Given the description of an element on the screen output the (x, y) to click on. 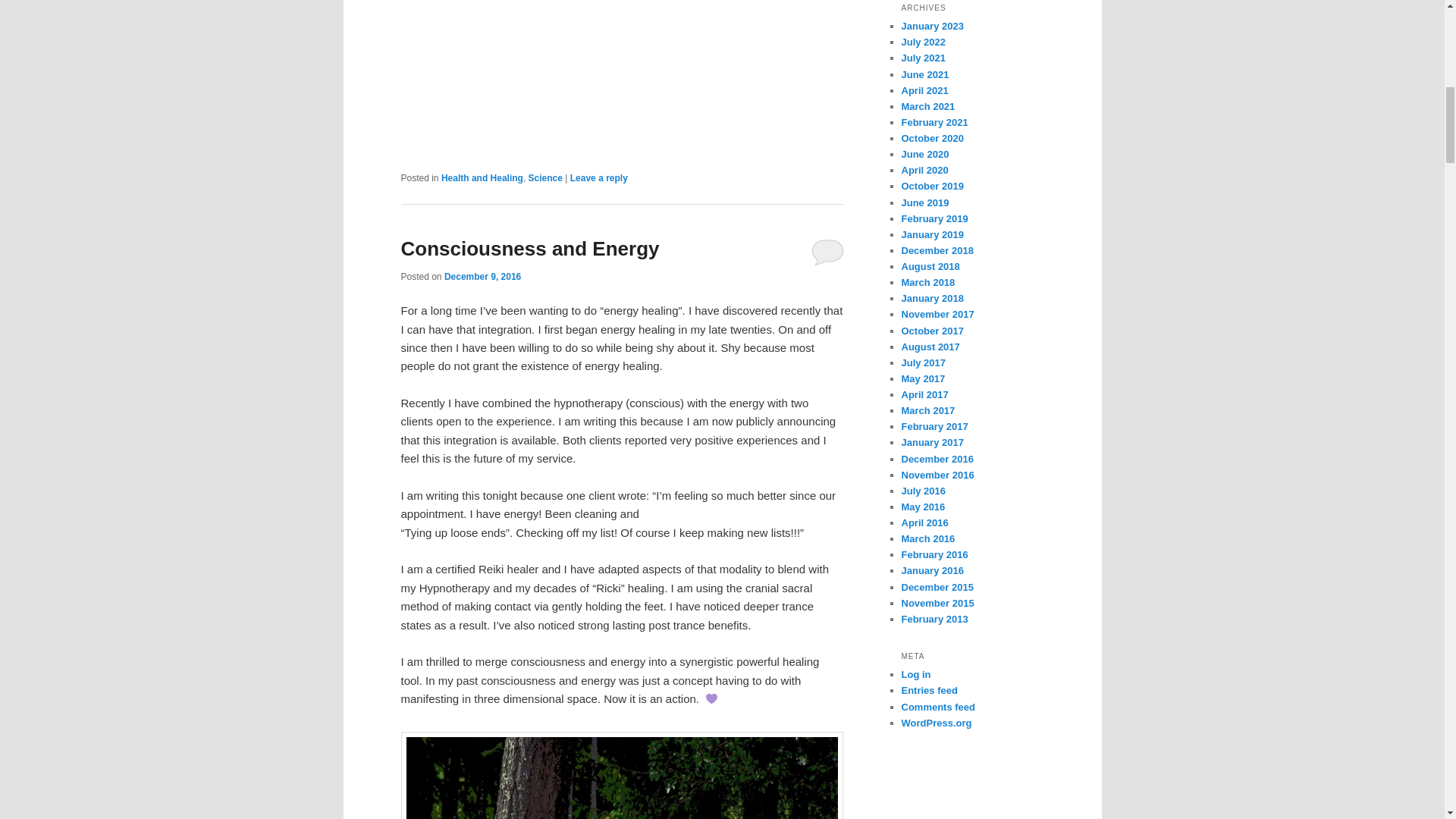
Science (545, 177)
Health and Healing (481, 177)
Consciousness and Energy (529, 248)
Leave a reply (598, 177)
December 9, 2016 (482, 276)
11:22 pm (482, 276)
